Given the description of an element on the screen output the (x, y) to click on. 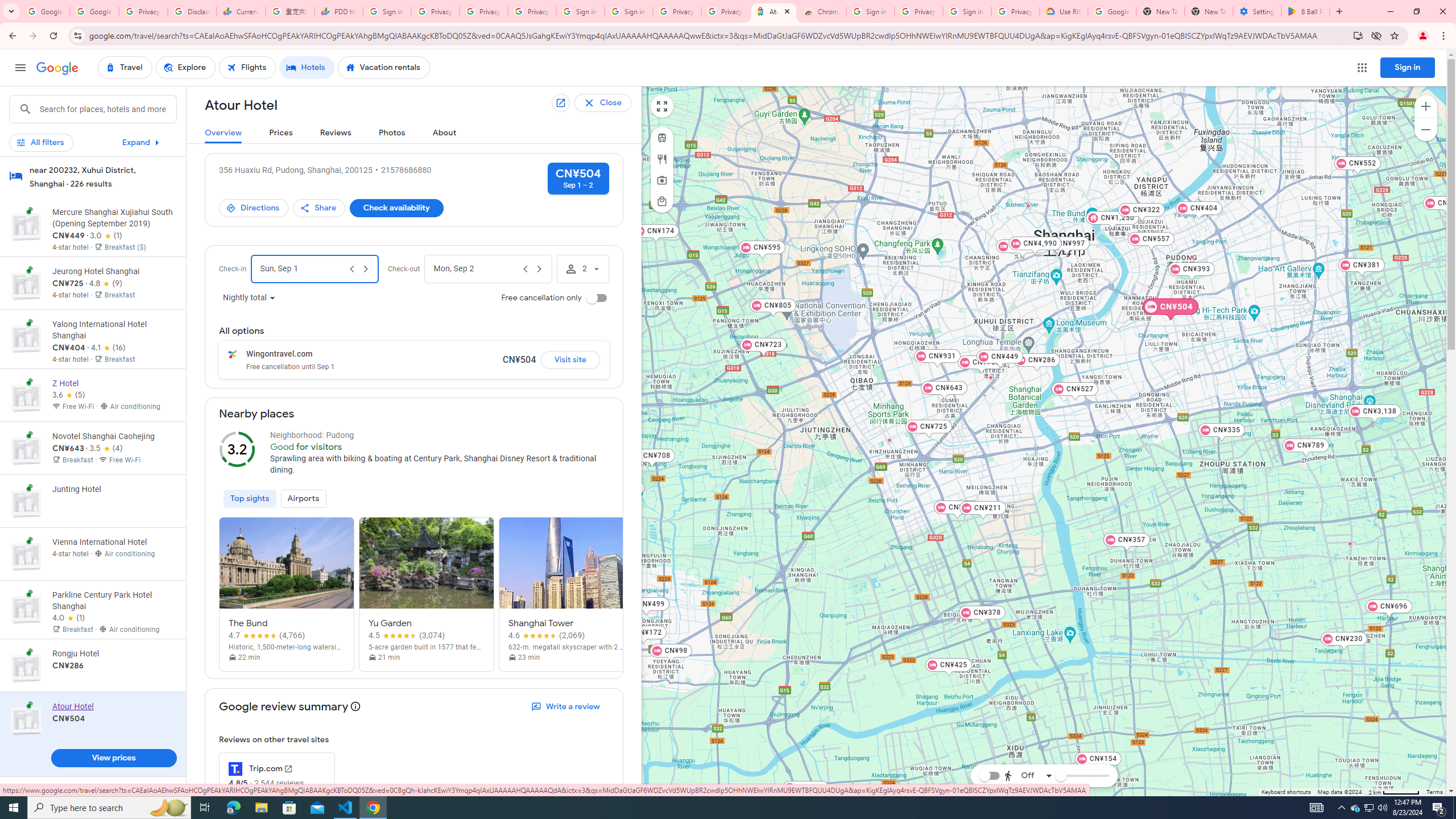
Sign in - Google Accounts (387, 11)
PDD Holdings Inc - ADR (PDD) Price & News - Google Finance (338, 11)
Toggle reachability layer (988, 775)
View prices for Z Hotel (113, 434)
Keyboard shortcuts (1285, 791)
